Given the description of an element on the screen output the (x, y) to click on. 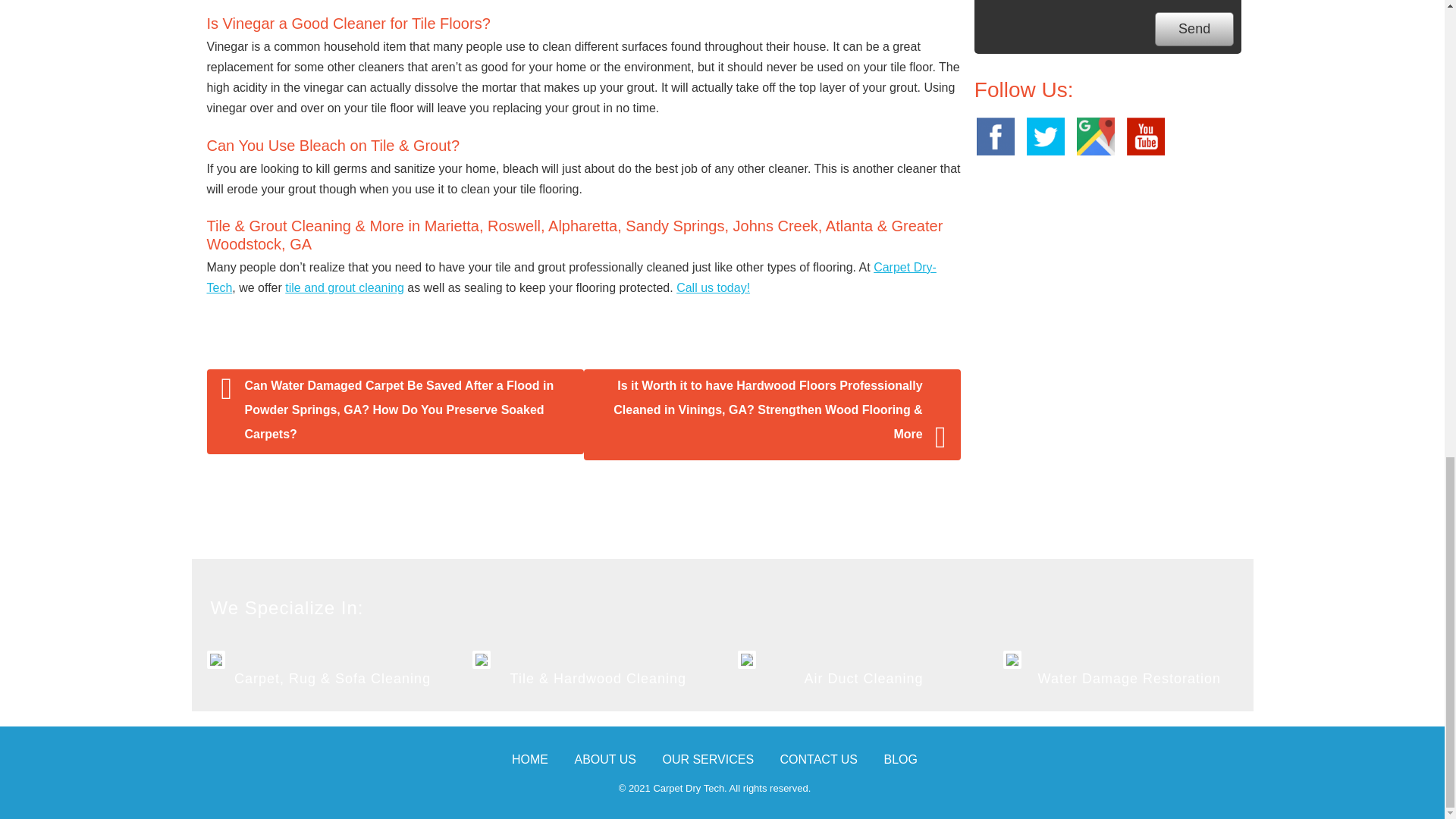
Send (1193, 28)
